Given the description of an element on the screen output the (x, y) to click on. 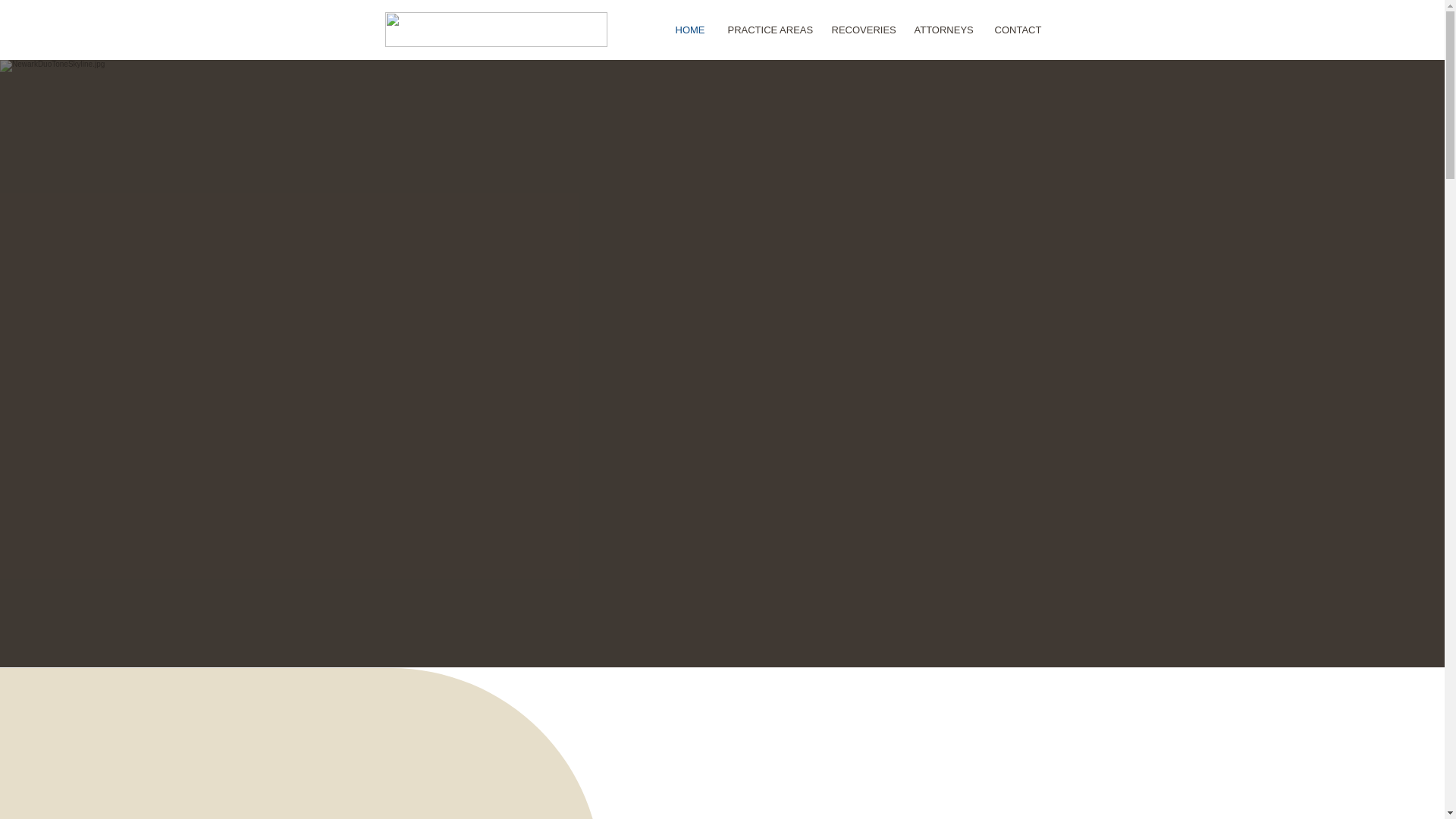
HOME (689, 29)
ATTORNEYS (942, 29)
RECOVERIES (861, 29)
GURKLAWWEBSITETOP.png (496, 29)
PRACTICE AREAS (767, 29)
CONTACT (1017, 29)
